Given the description of an element on the screen output the (x, y) to click on. 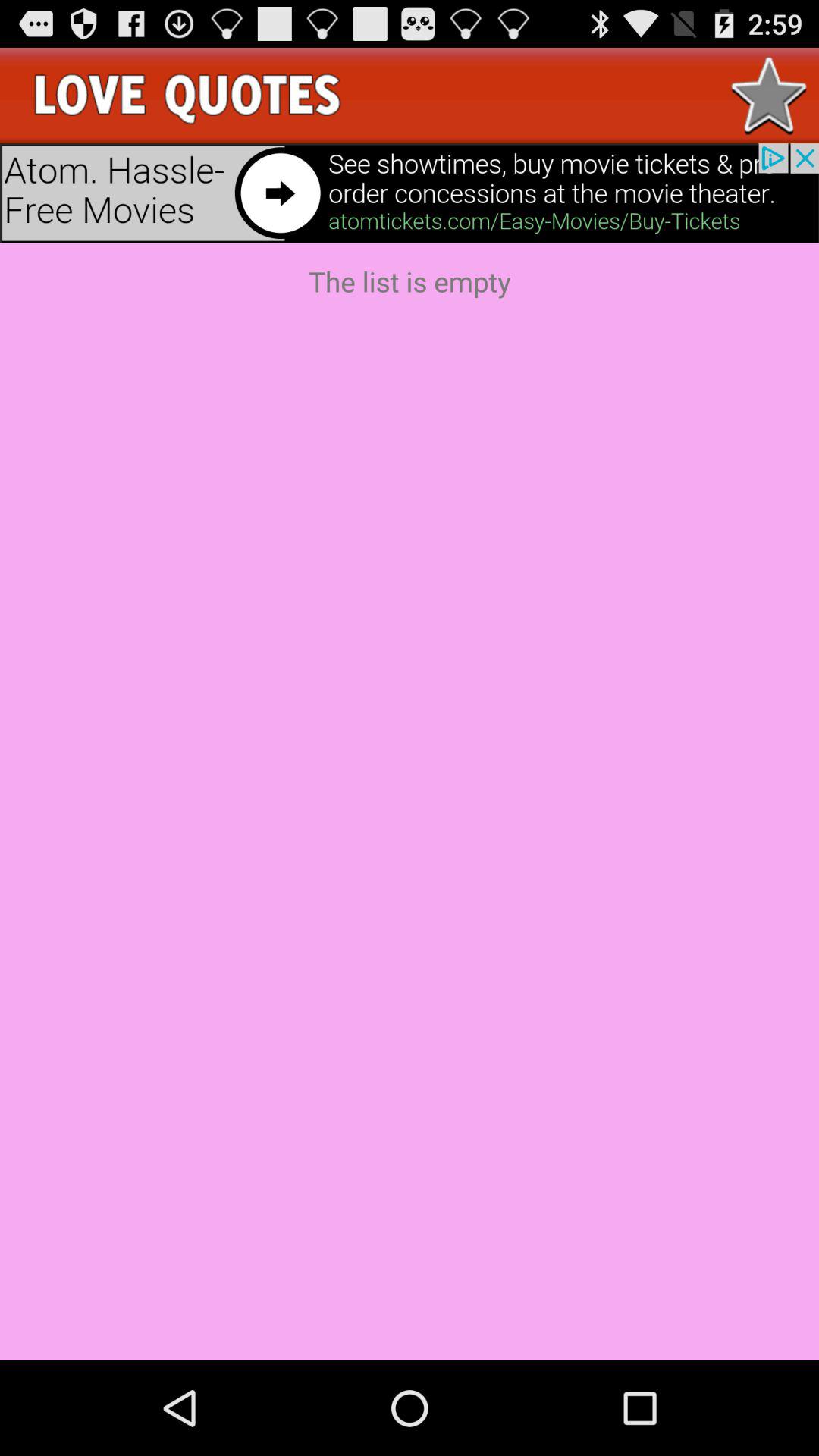
favorite (768, 95)
